Given the description of an element on the screen output the (x, y) to click on. 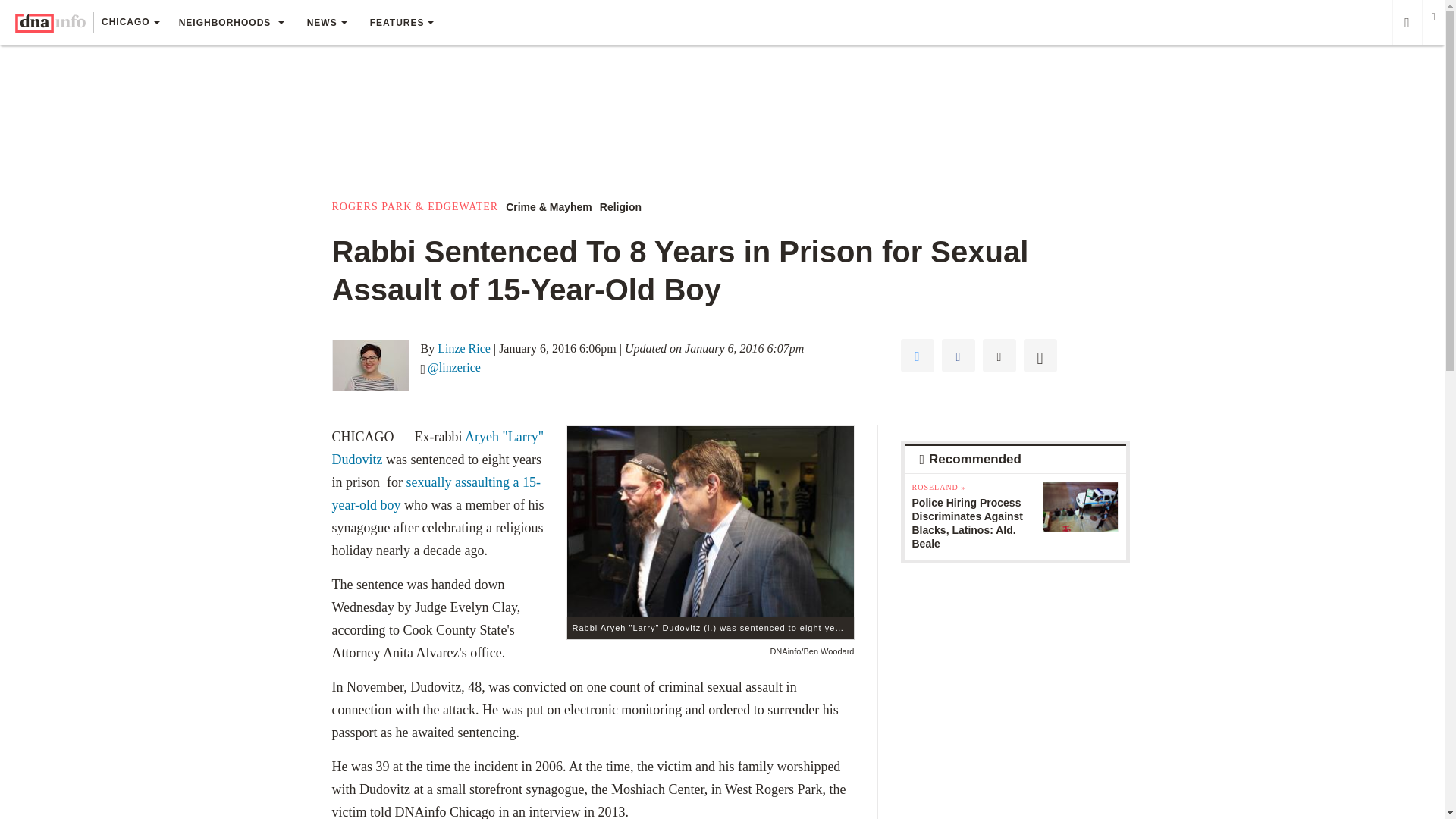
NEWS (326, 22)
NEIGHBORHOODS (231, 22)
CHICAGO (130, 23)
FEATURES (401, 22)
Chicago - Home (49, 22)
